Given the description of an element on the screen output the (x, y) to click on. 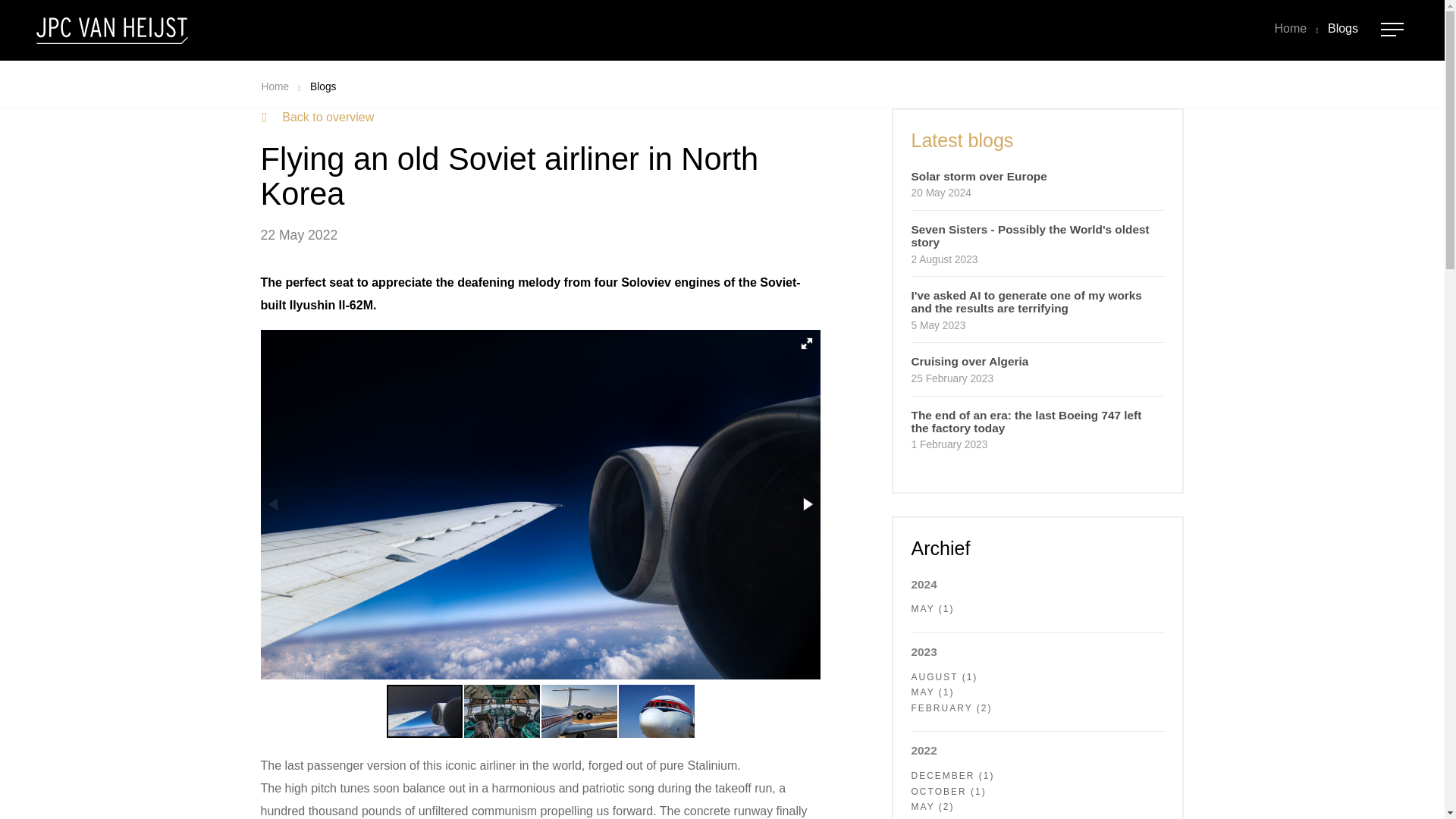
JPC van Heijst (111, 30)
